Given the description of an element on the screen output the (x, y) to click on. 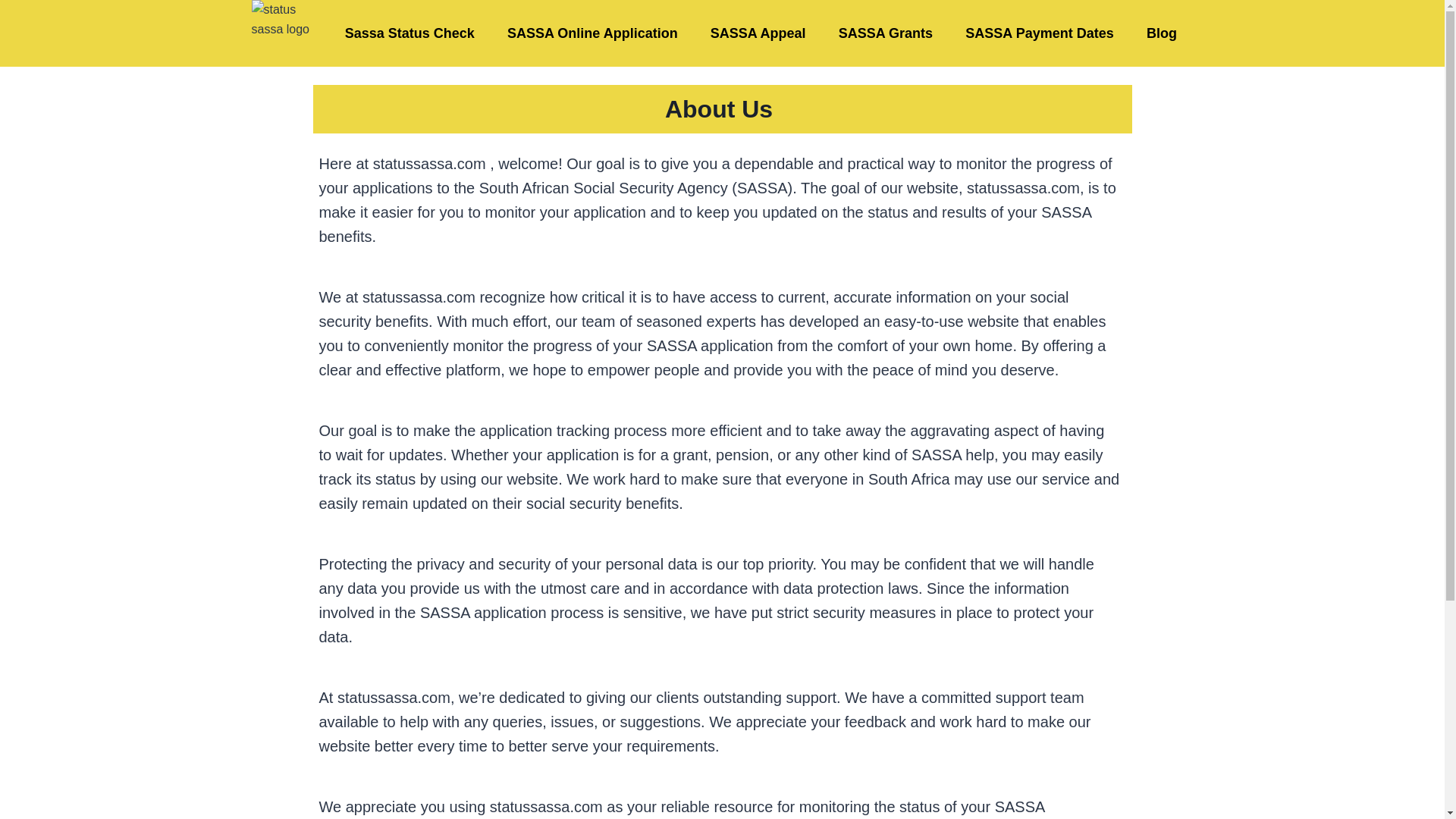
Sassa Status Check (409, 32)
Blog (1160, 32)
SASSA Appeal (758, 32)
SASSA Grants (885, 32)
SASSA Online Application (592, 32)
SASSA Payment Dates (1040, 32)
